Given the description of an element on the screen output the (x, y) to click on. 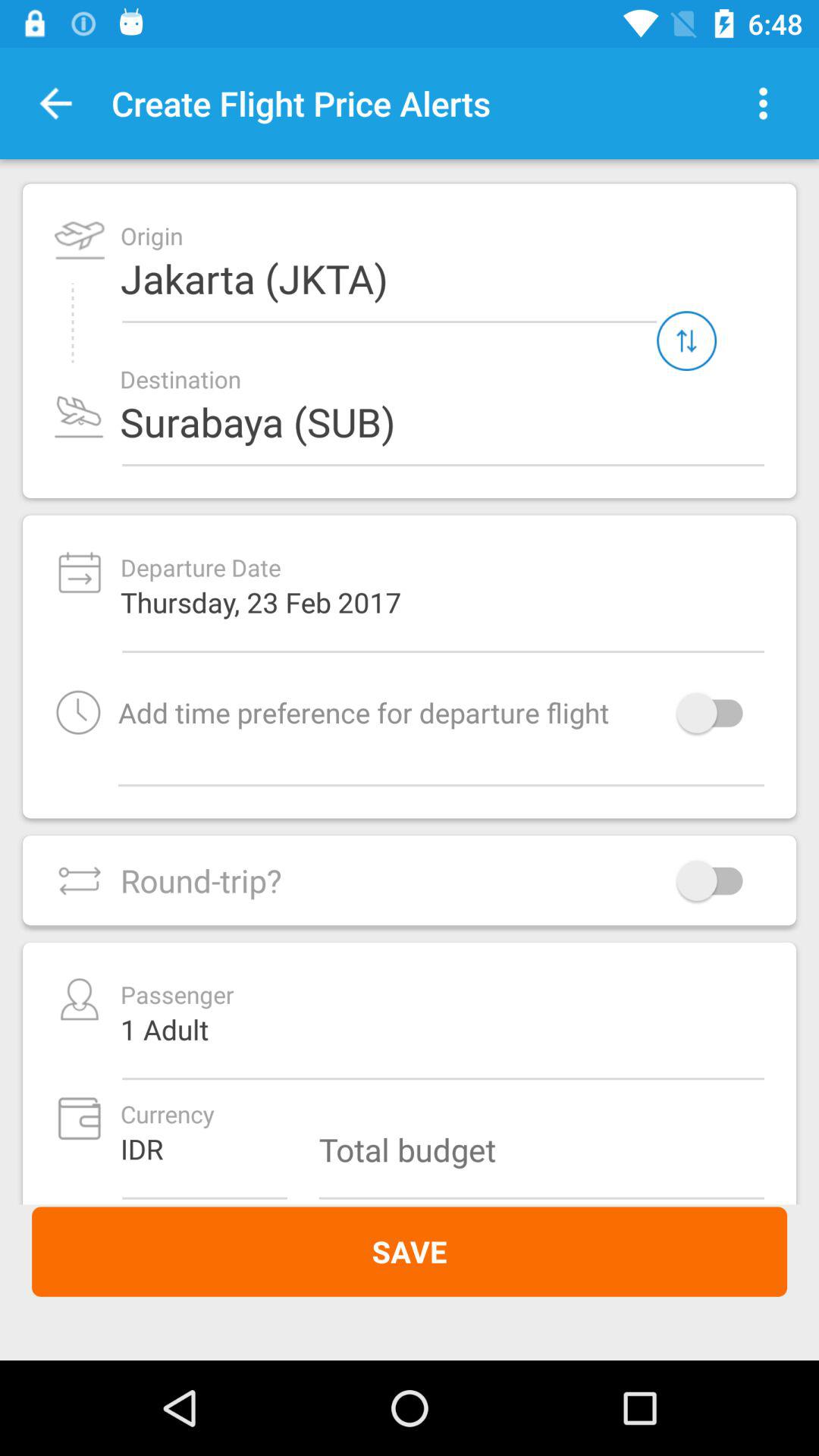
switch origin and destination (686, 340)
